Given the description of an element on the screen output the (x, y) to click on. 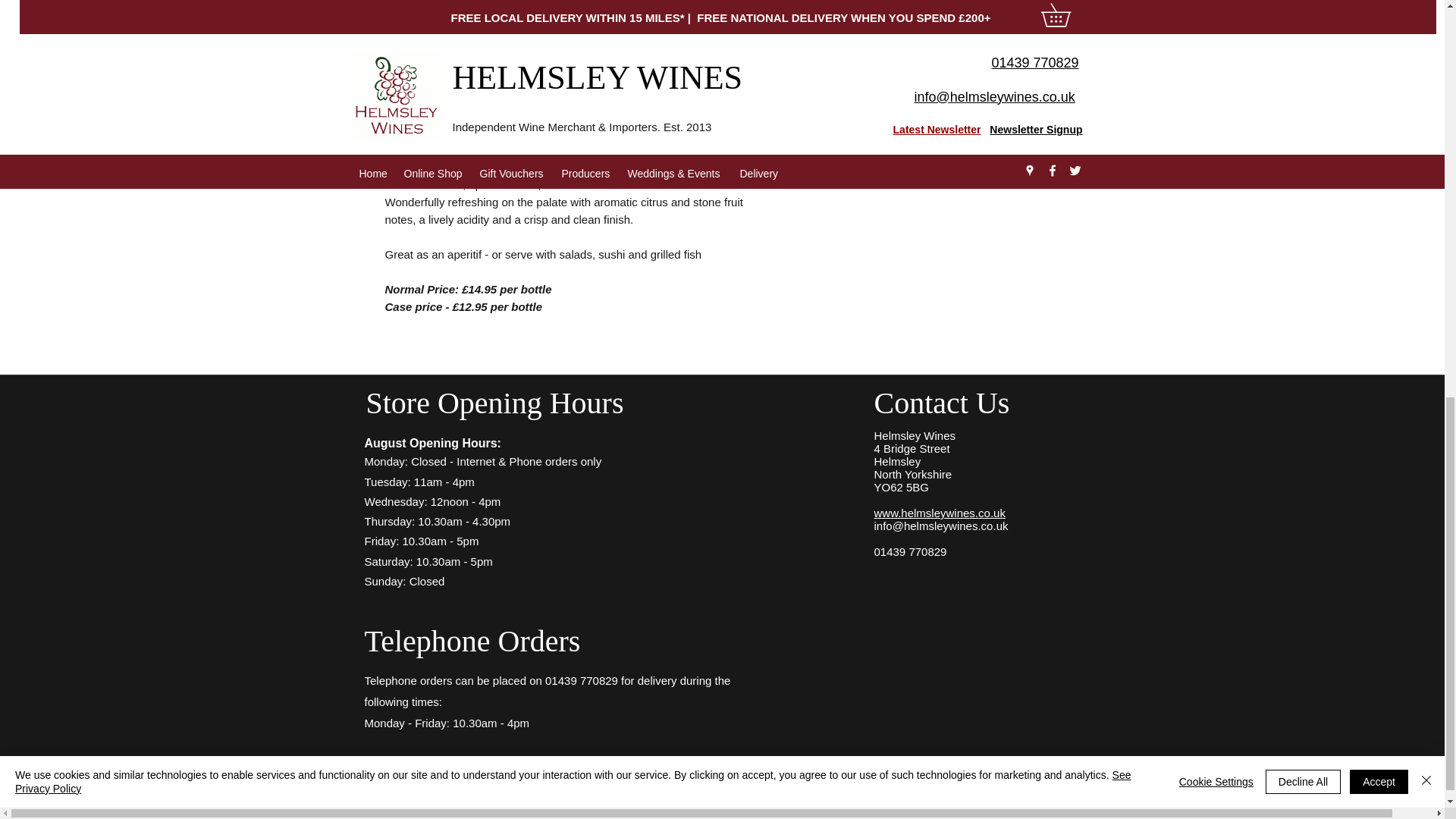
www.helmsleywines.co.uk (938, 512)
Delivery (1019, 773)
Privacy Policy (931, 773)
Vintage: (924, 29)
Grape Variety: (924, 88)
